Given the description of an element on the screen output the (x, y) to click on. 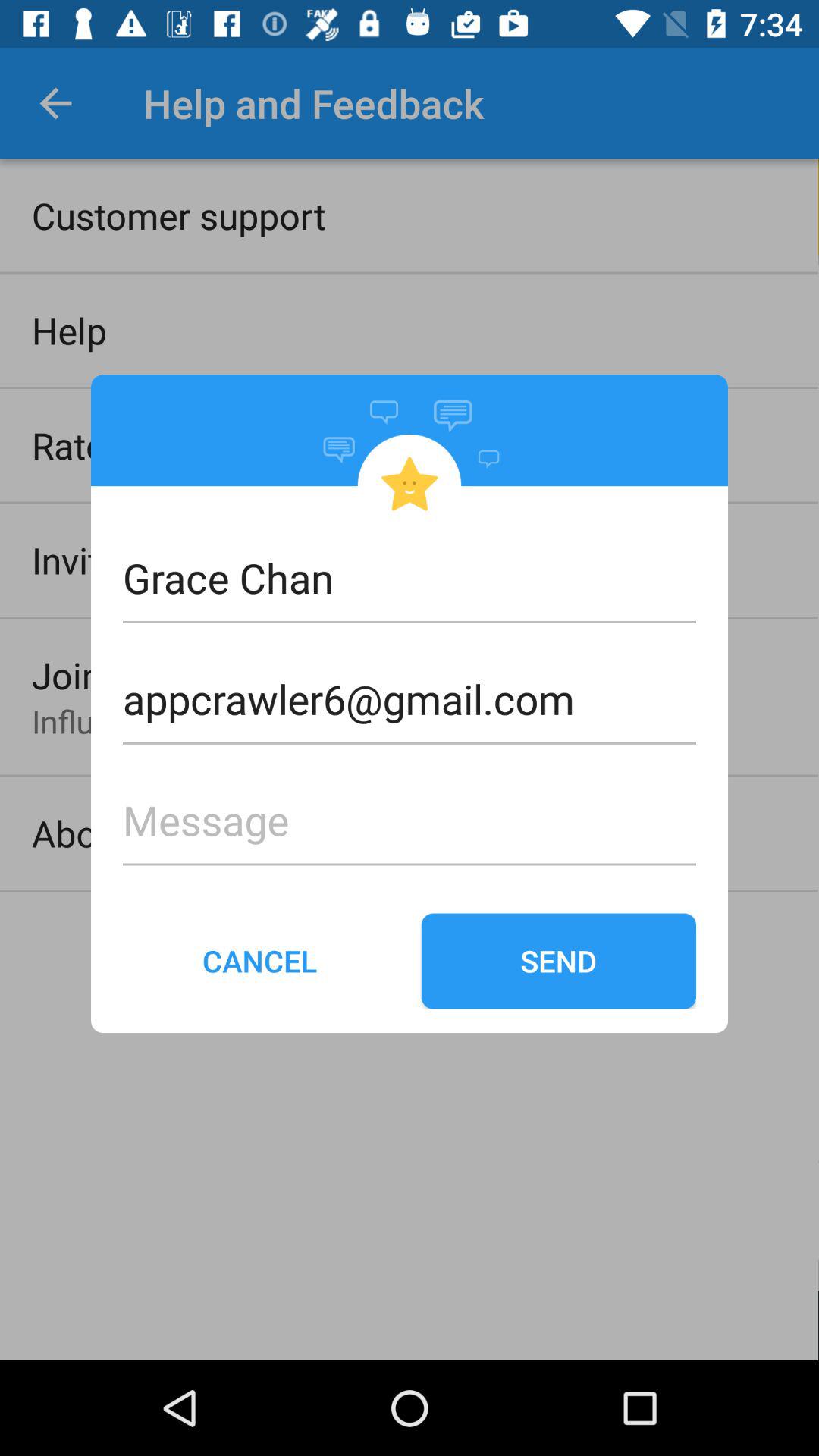
flip until the cancel (259, 960)
